Given the description of an element on the screen output the (x, y) to click on. 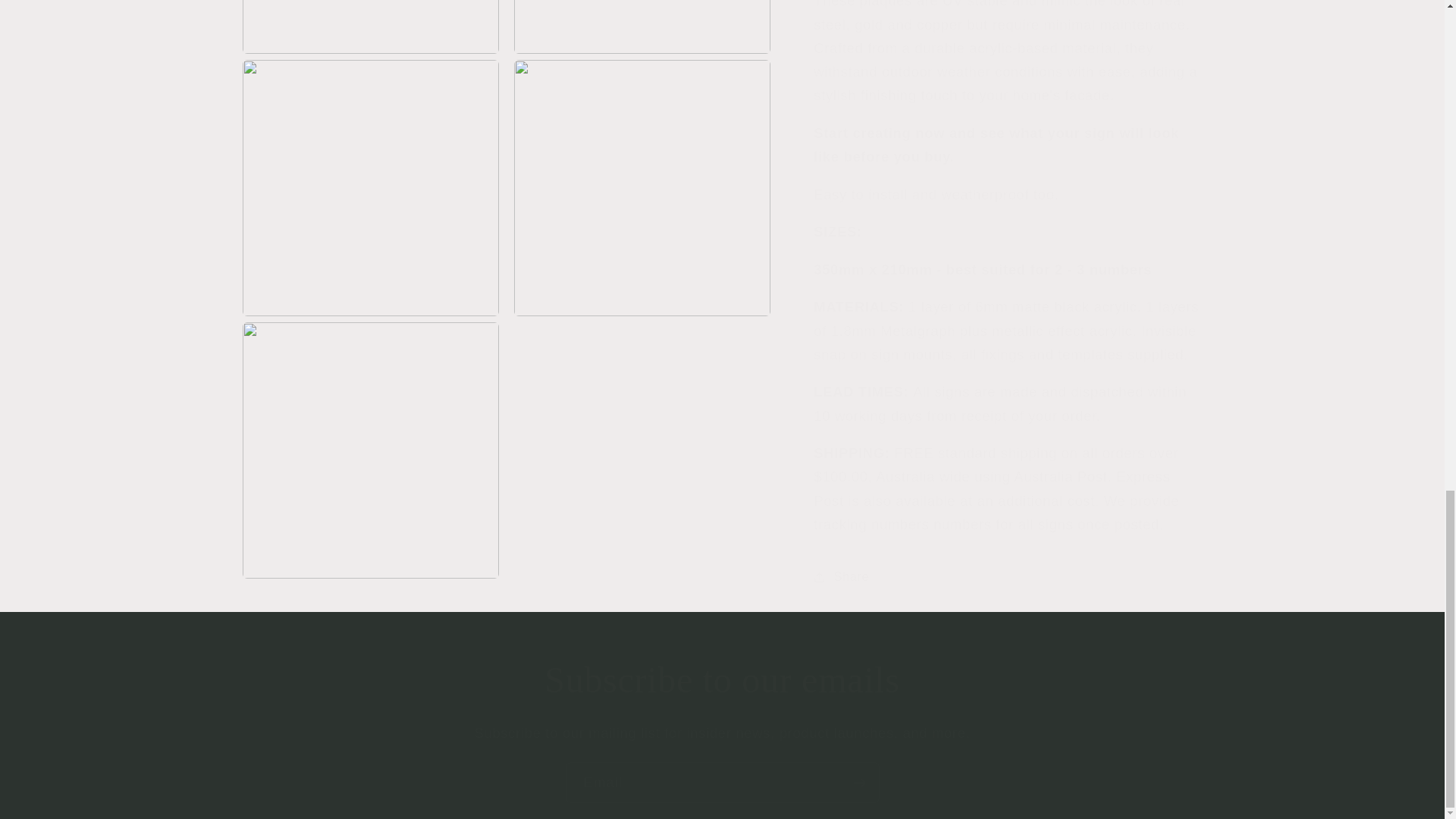
Open media 7 in modal (641, 170)
Subscribe to our emails (722, 679)
Open media 5 in modal (641, 18)
Open media 8 in modal (371, 432)
Open media 4 in modal (371, 18)
Email (722, 782)
Open media 6 in modal (371, 170)
